Given the description of an element on the screen output the (x, y) to click on. 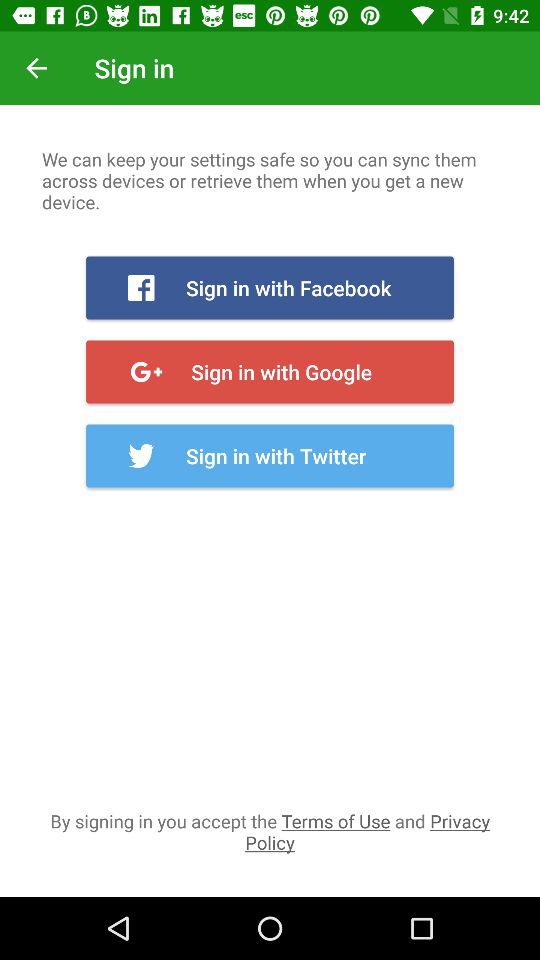
tap the icon to the left of sign in item (36, 68)
